Given the description of an element on the screen output the (x, y) to click on. 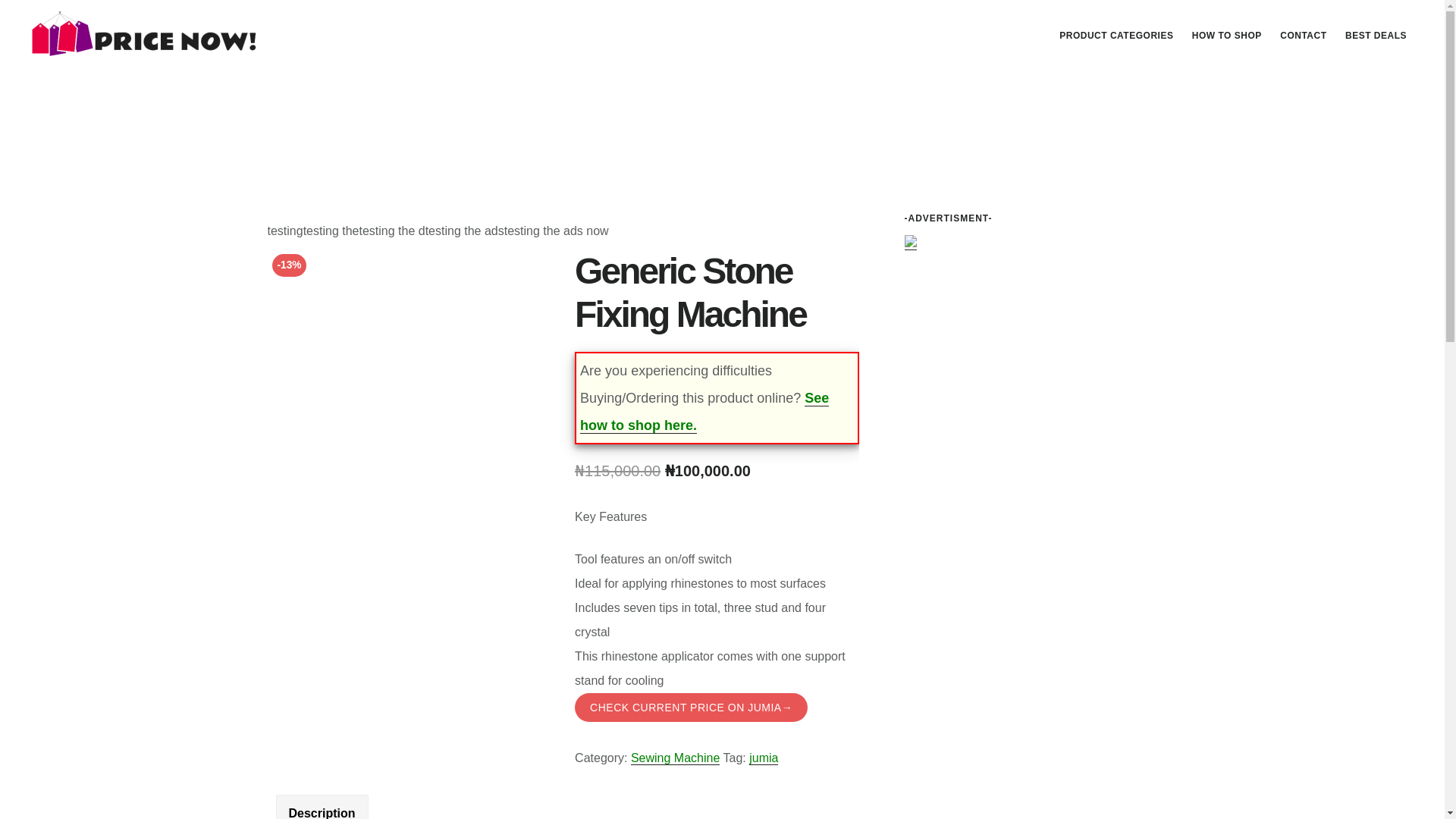
PRICENOW NG (143, 32)
PRODUCT CATEGORIES (1115, 35)
